Given the description of an element on the screen output the (x, y) to click on. 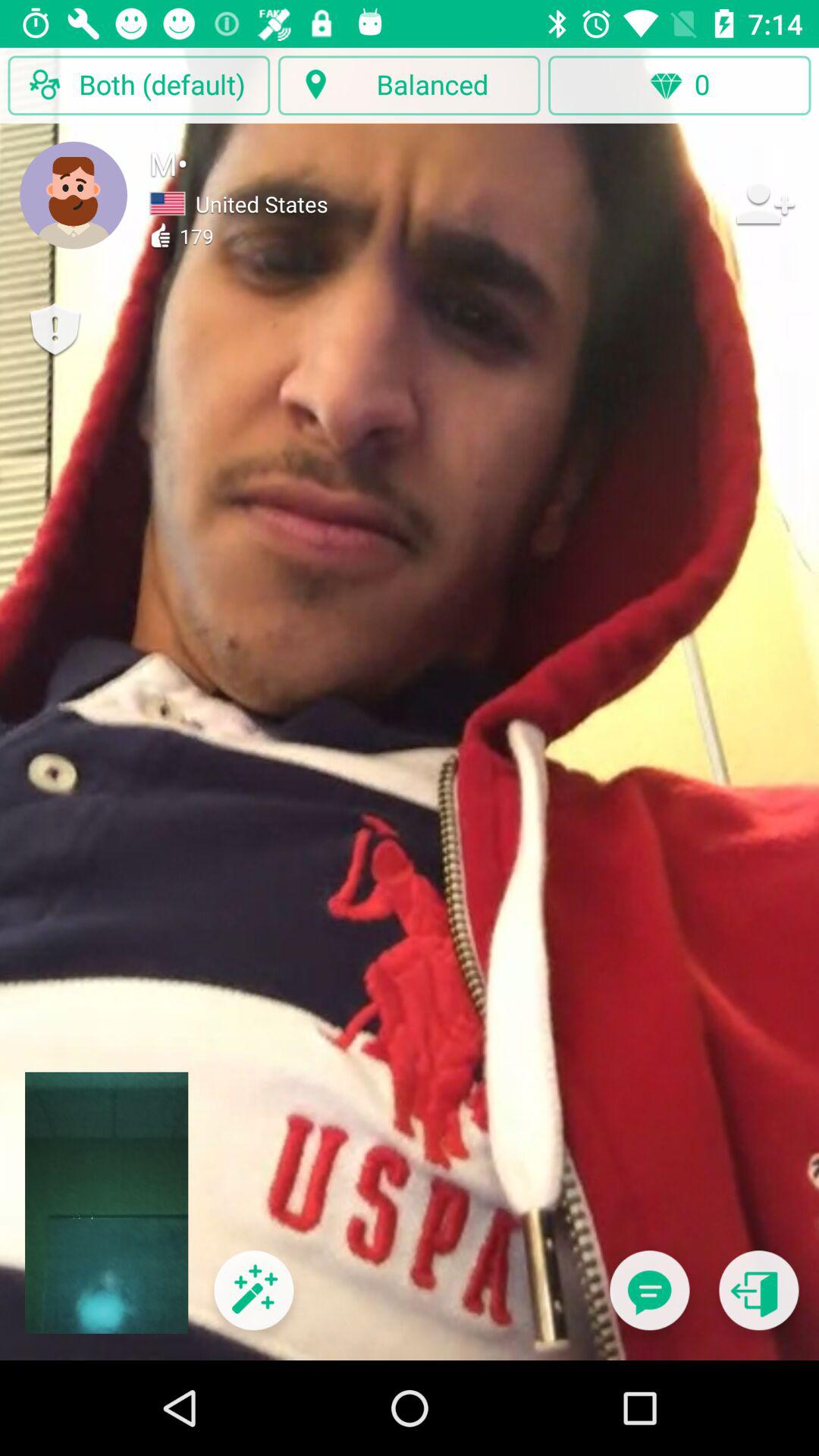
go back (758, 1300)
